Given the description of an element on the screen output the (x, y) to click on. 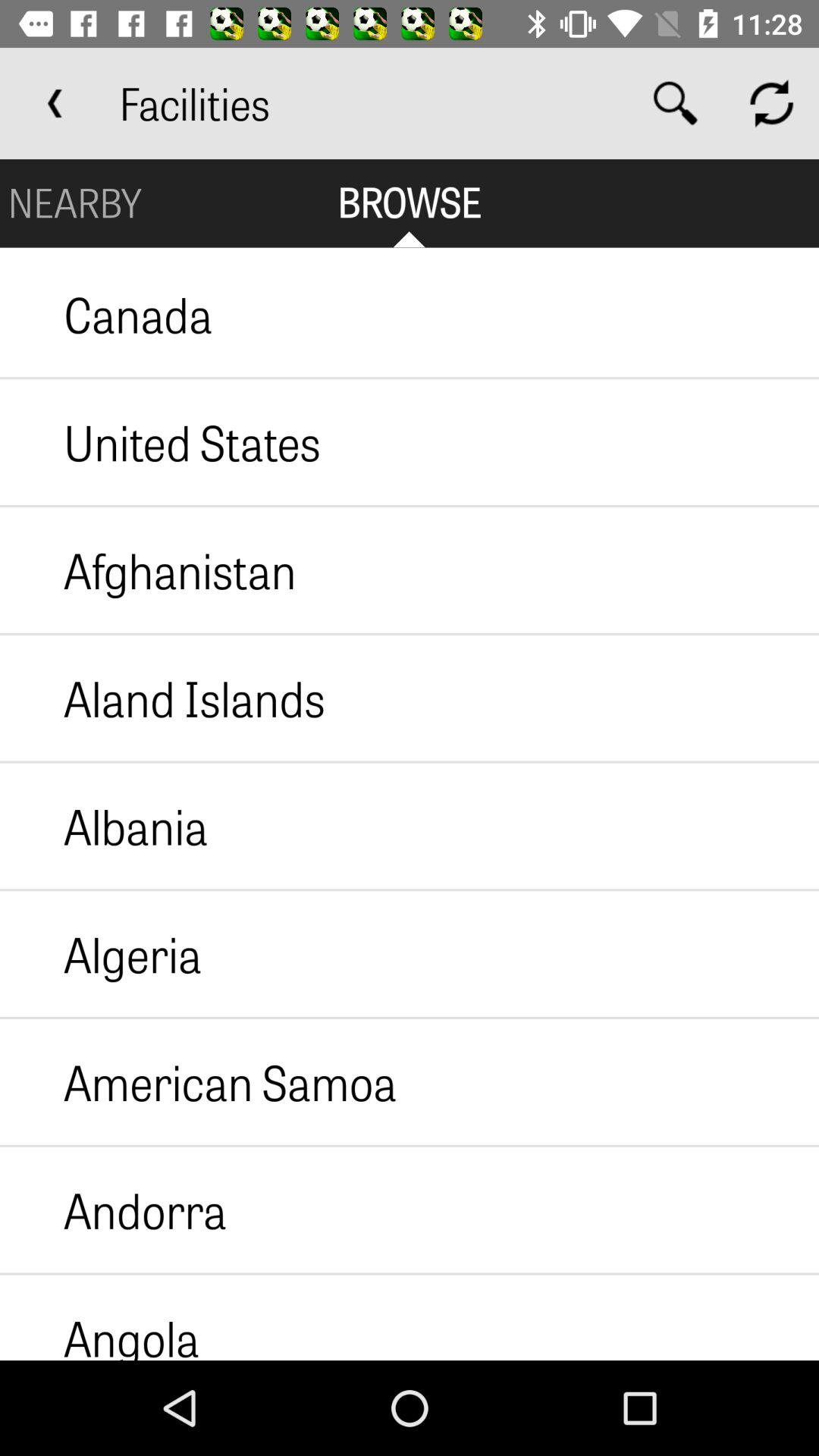
select icon above the aland islands icon (148, 570)
